Given the description of an element on the screen output the (x, y) to click on. 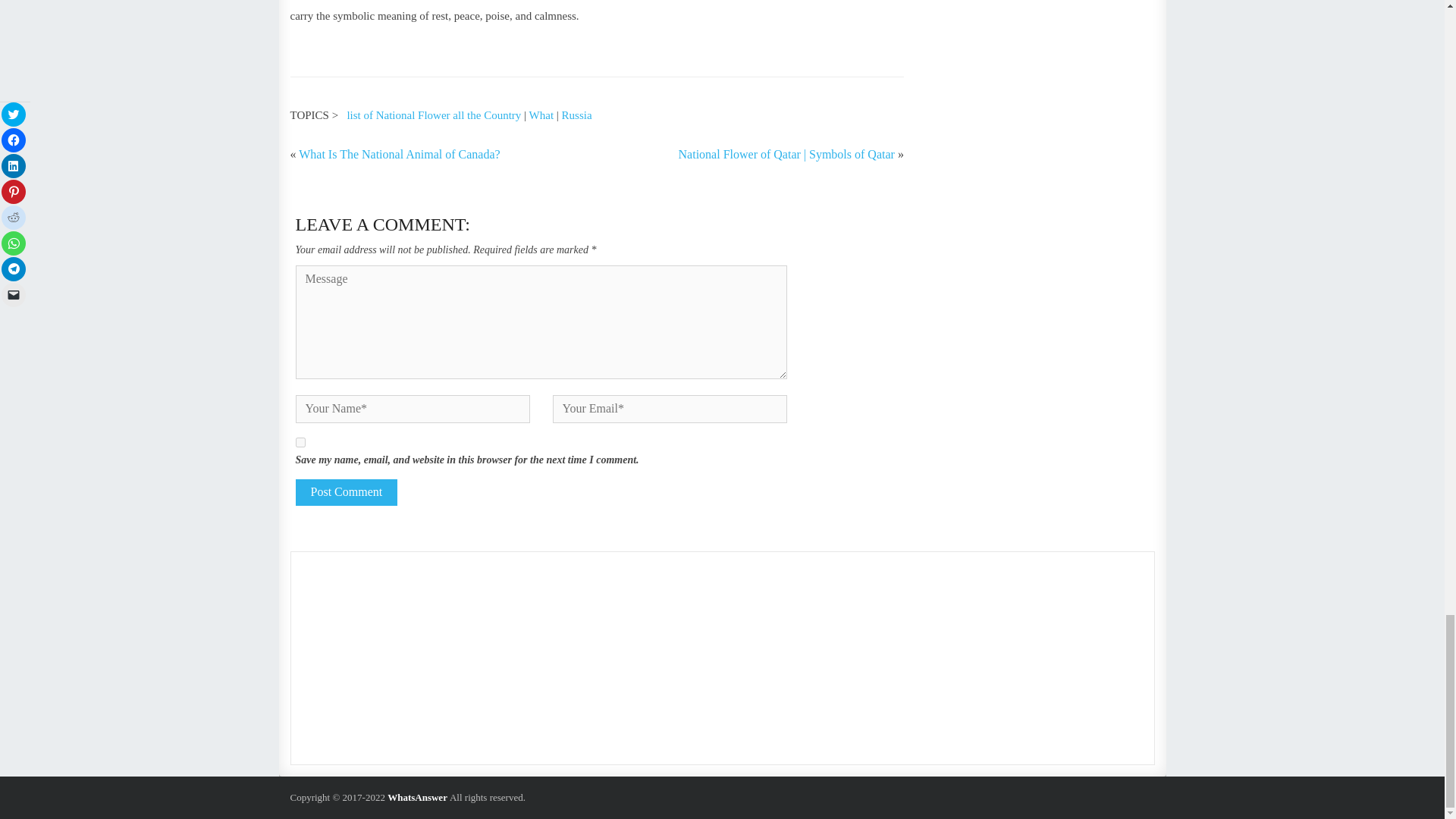
yes (300, 442)
Post Comment (346, 492)
What (541, 114)
Russia (577, 114)
Post Comment (346, 492)
What Is The National Animal of Canada? (398, 154)
list of National Flower all the Country (433, 114)
